Given the description of an element on the screen output the (x, y) to click on. 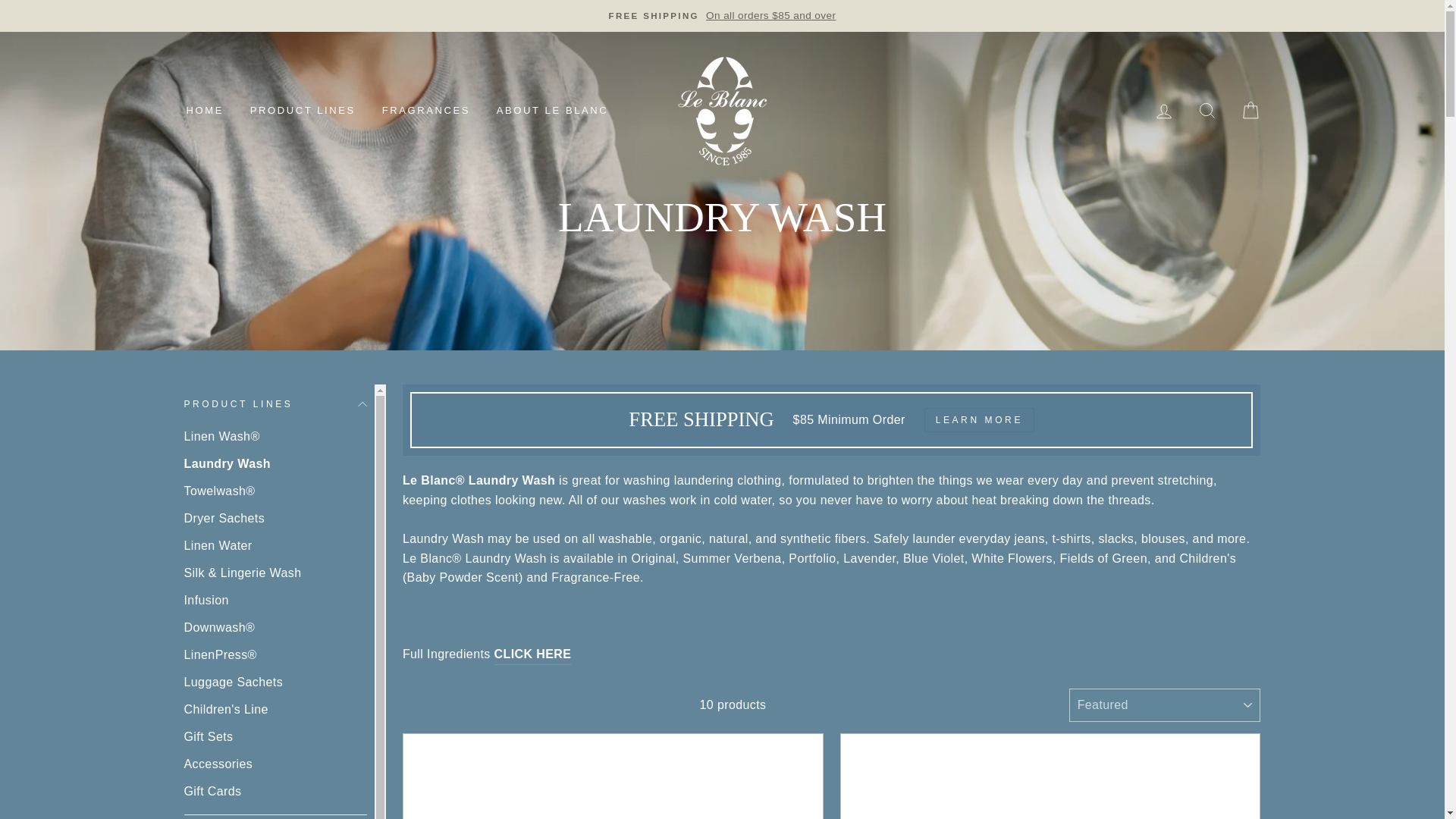
PRODUCT LINES (302, 110)
HOME (204, 110)
